Given the description of an element on the screen output the (x, y) to click on. 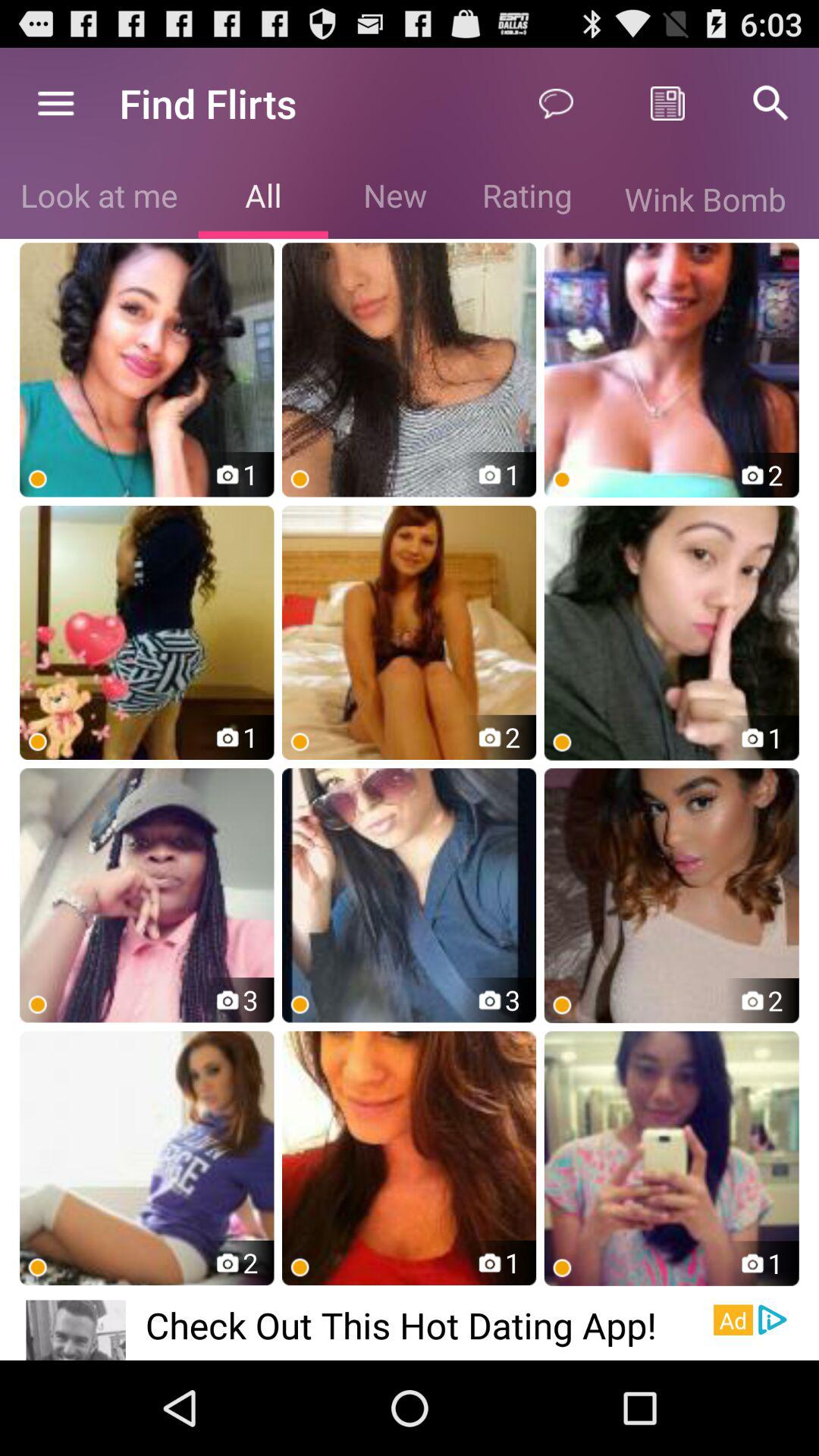
turn off icon above wink bomb icon (771, 103)
